Given the description of an element on the screen output the (x, y) to click on. 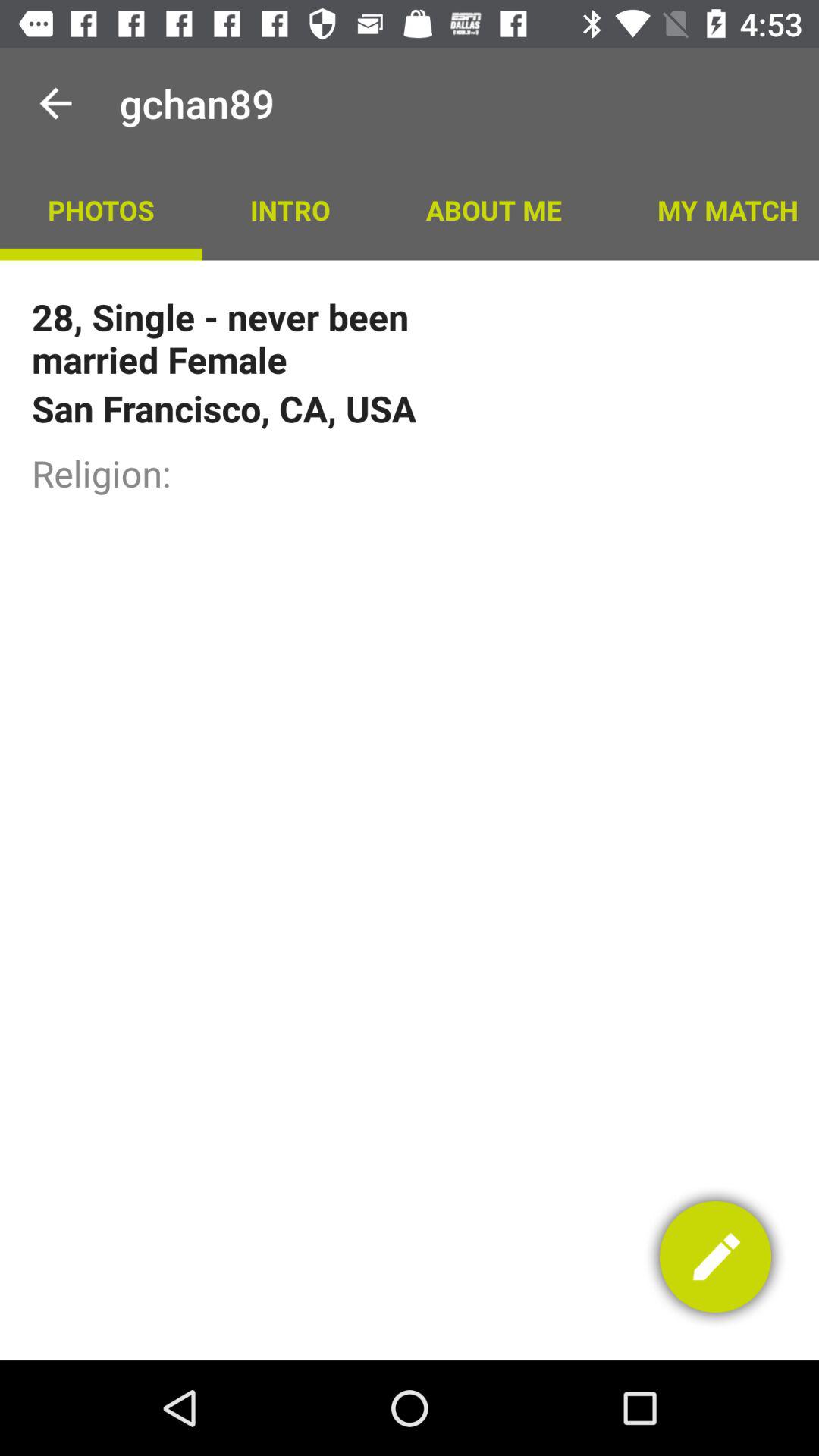
click app to the right of photos app (290, 209)
